Given the description of an element on the screen output the (x, y) to click on. 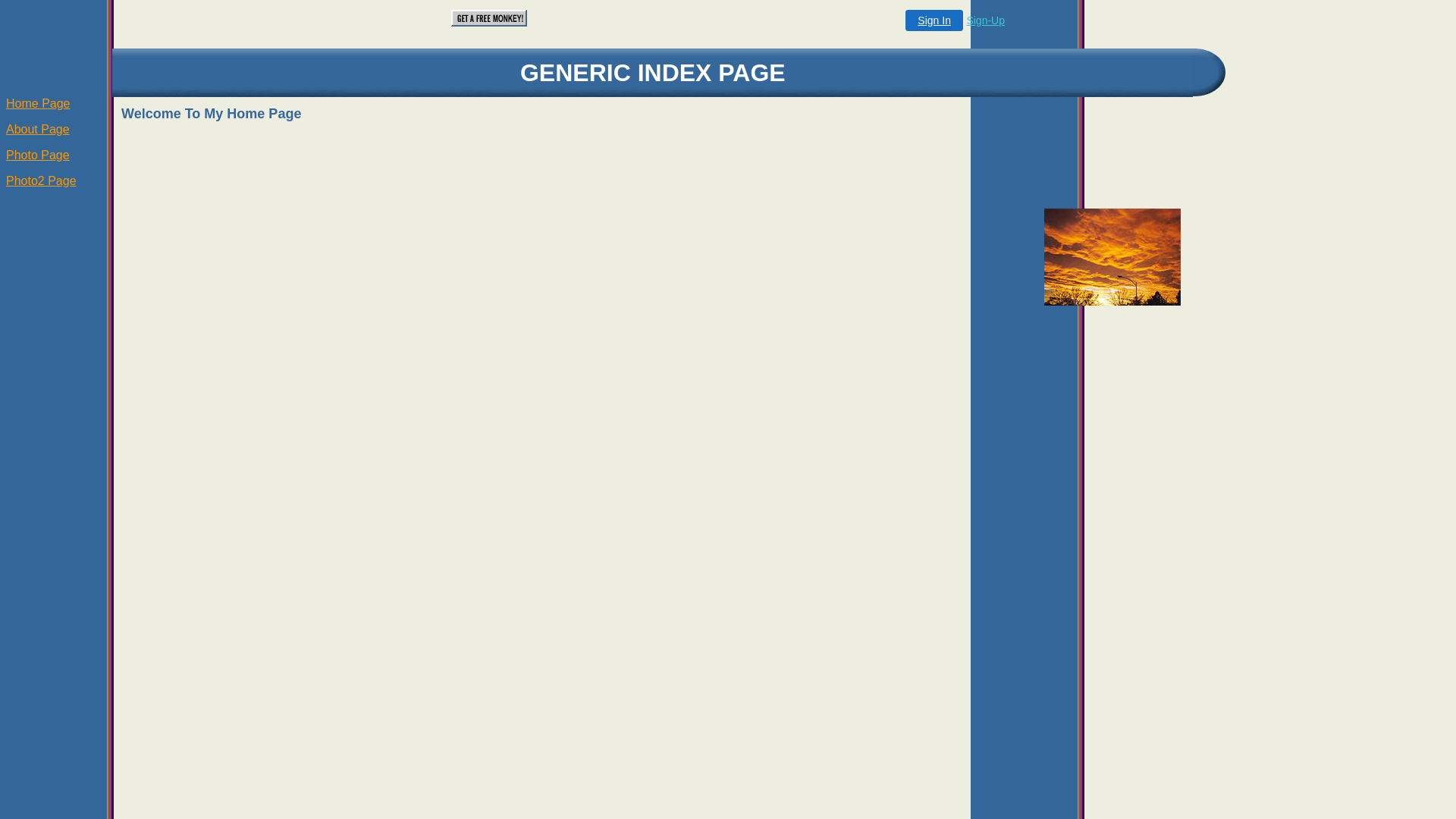
About Page Element type: text (37, 128)
Photo Page Element type: text (37, 154)
Sign-Up Element type: text (985, 20)
Sign In Element type: text (934, 20)
Photo2 Page Element type: text (41, 180)
Home Page Element type: text (38, 103)
